Given the description of an element on the screen output the (x, y) to click on. 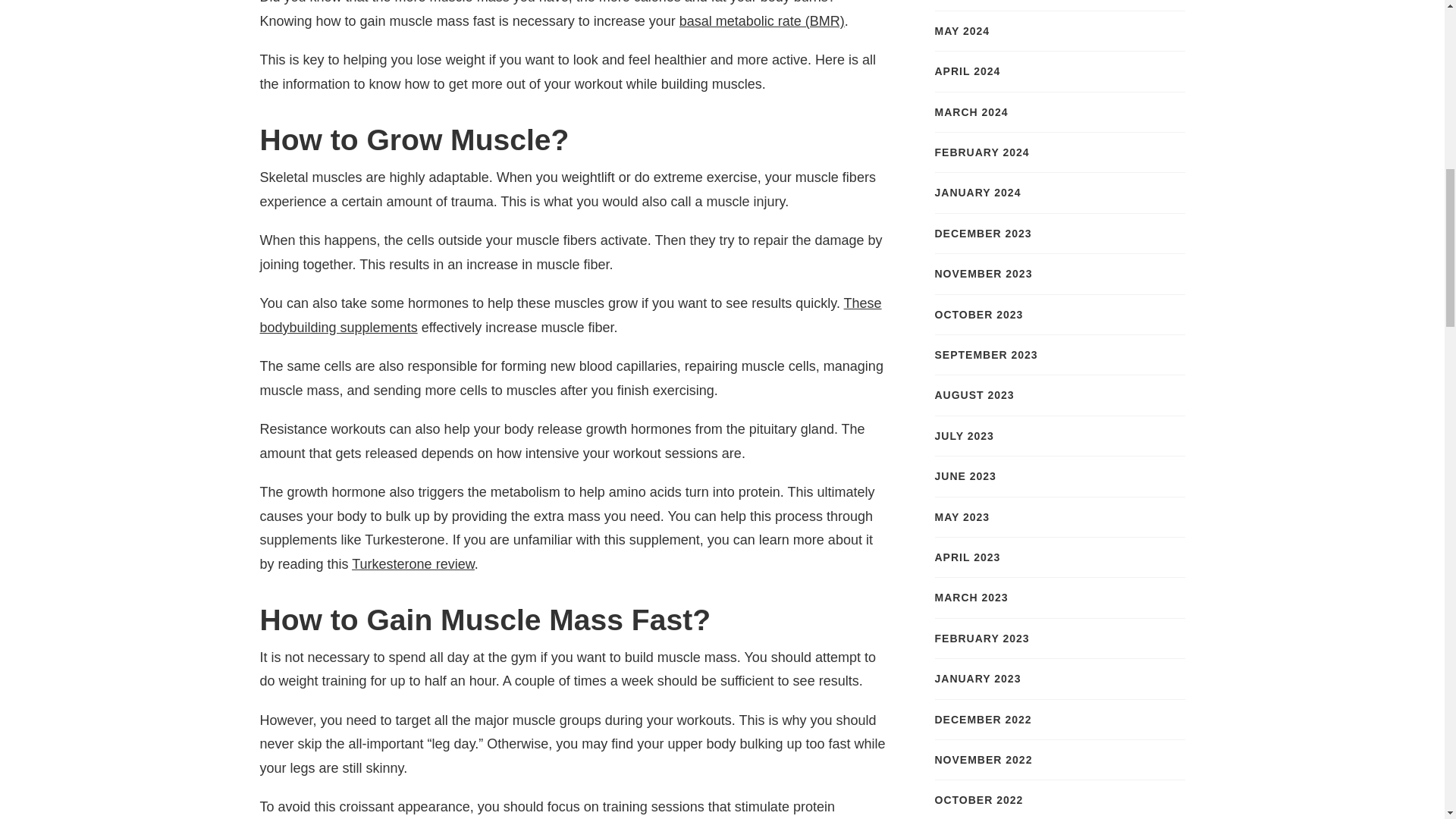
Turkesterone review (413, 563)
These bodybuilding supplements (569, 314)
